Given the description of an element on the screen output the (x, y) to click on. 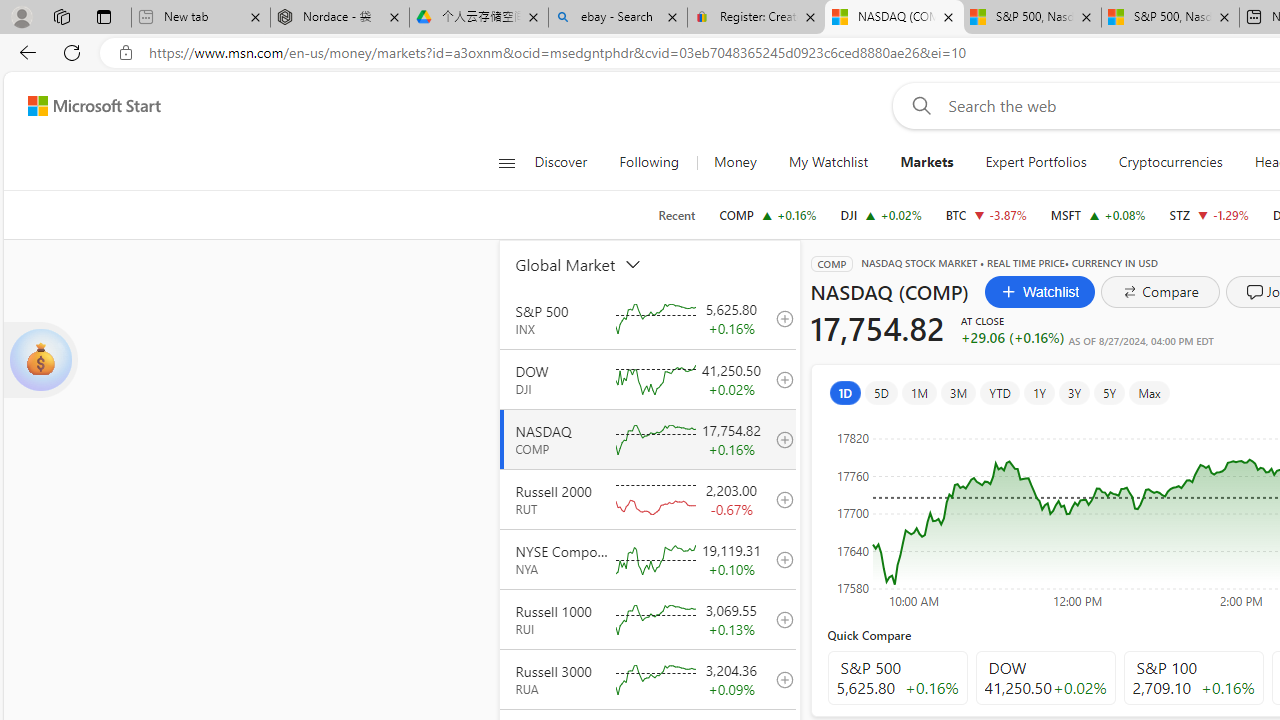
Money (735, 162)
My Watchlist (827, 162)
5D (881, 392)
1M (919, 392)
DJI DOW increase 41,250.50 +9.98 +0.02% (881, 214)
Markets (927, 162)
